Given the description of an element on the screen output the (x, y) to click on. 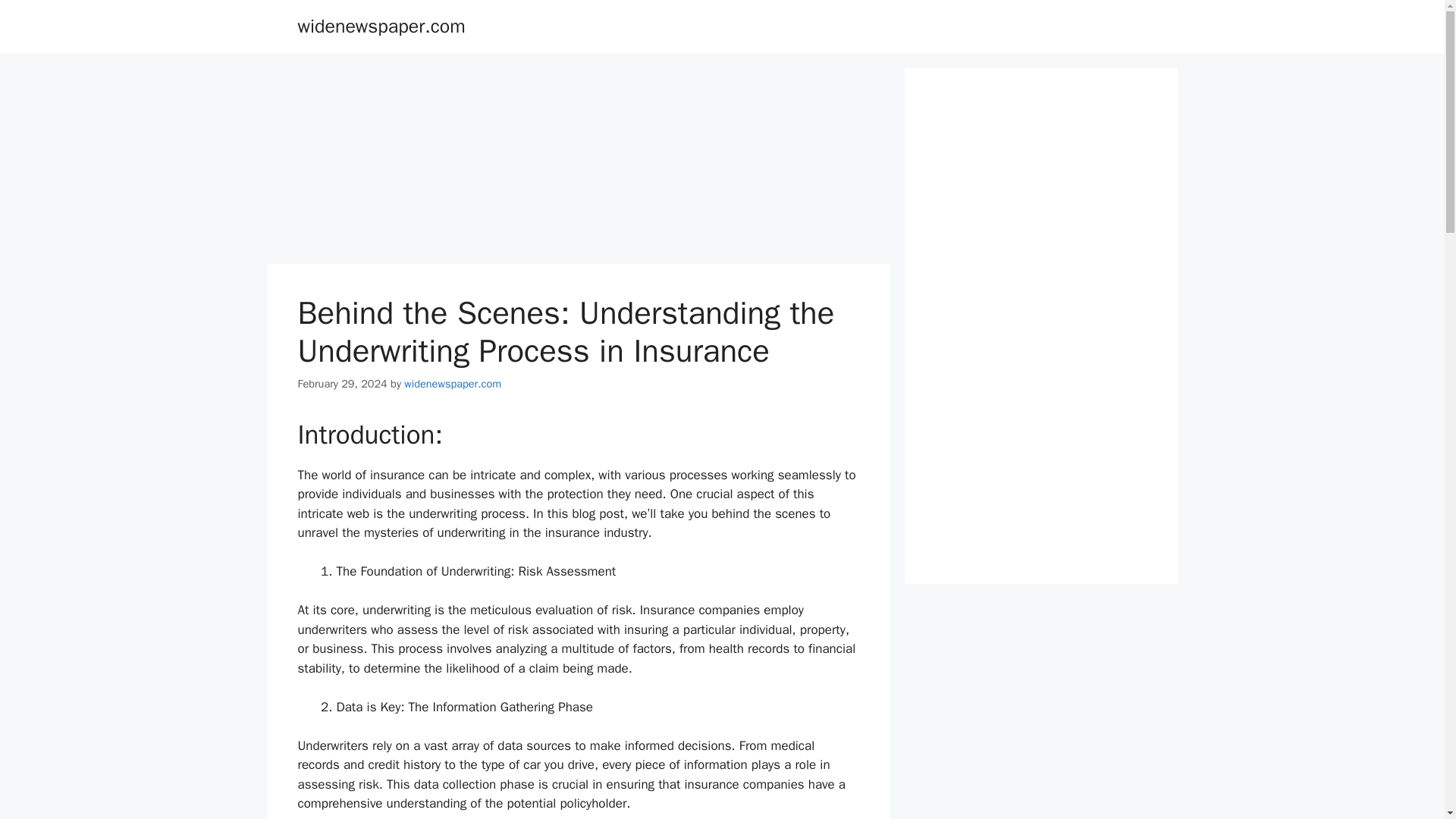
View all posts by widenewspaper.com (452, 383)
widenewspaper.com (452, 383)
widenewspaper.com (380, 25)
